Given the description of an element on the screen output the (x, y) to click on. 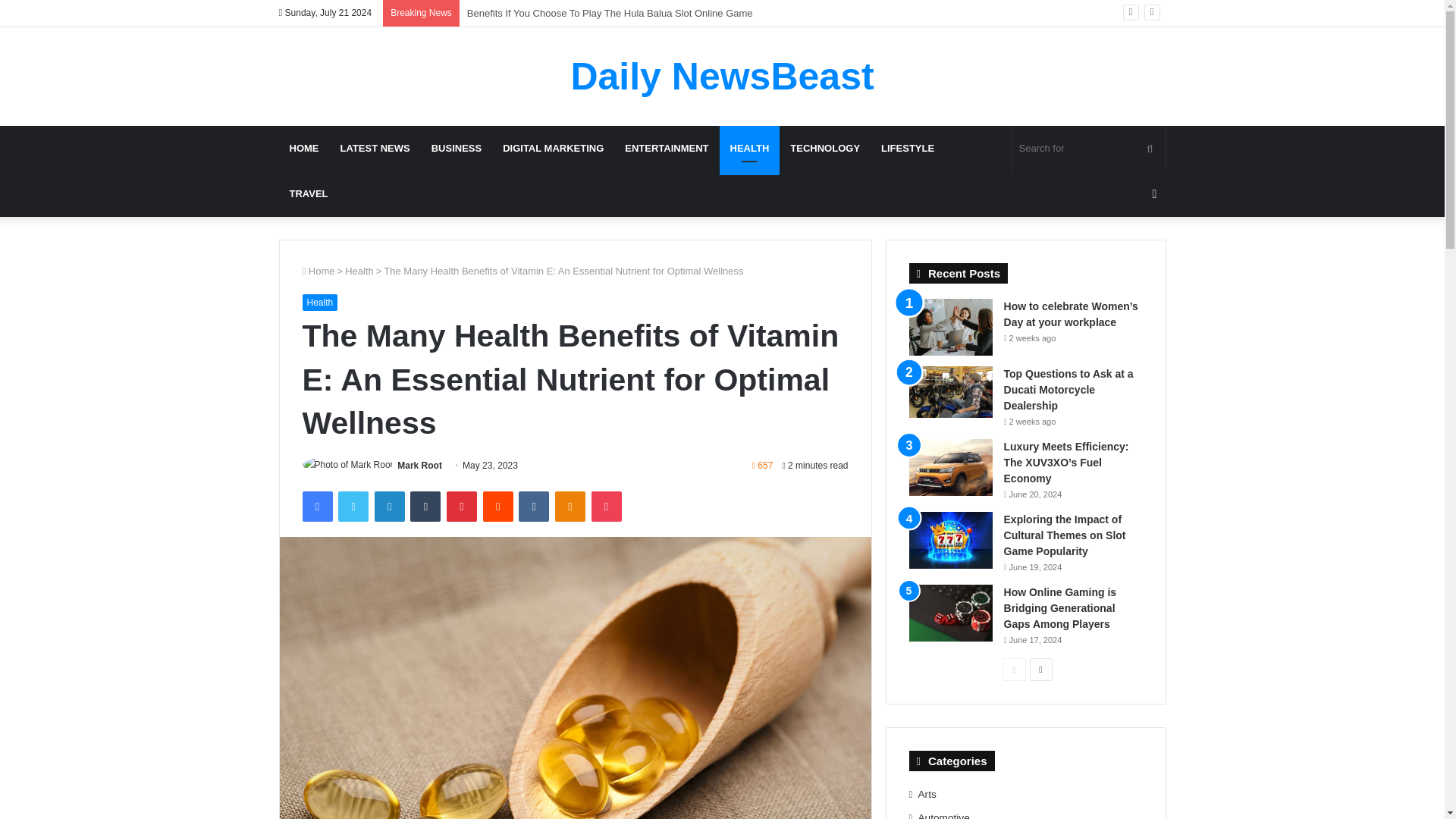
Facebook (316, 506)
Health (319, 302)
VKontakte (533, 506)
Tumblr (425, 506)
LinkedIn (389, 506)
HOME (304, 148)
DIGITAL MARKETING (553, 148)
Odnoklassniki (569, 506)
Daily NewsBeast (721, 76)
LATEST NEWS (374, 148)
VKontakte (533, 506)
Mark Root (419, 465)
Daily NewsBeast (721, 76)
Twitter (352, 506)
TRAVEL (309, 194)
